Given the description of an element on the screen output the (x, y) to click on. 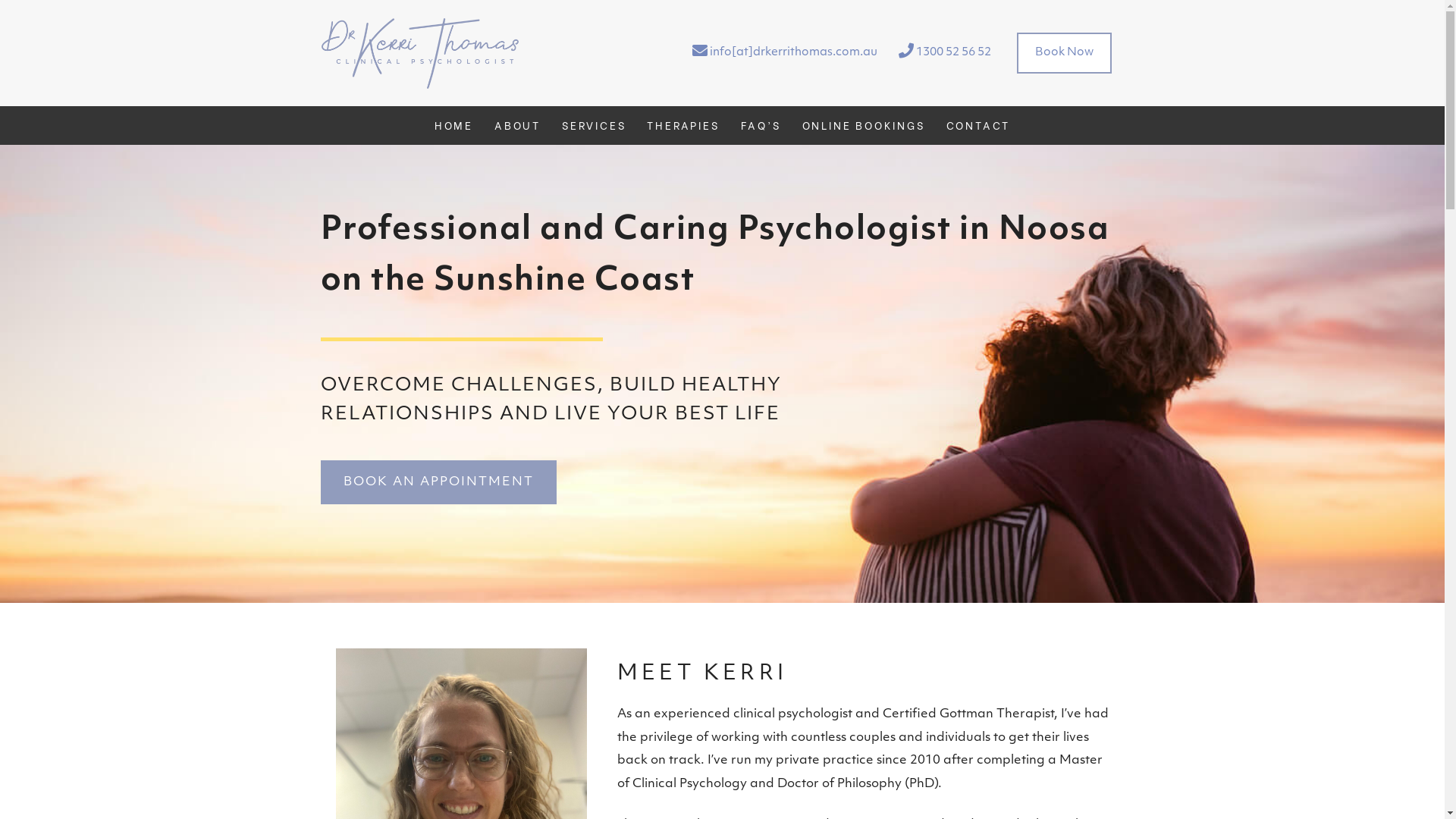
BOOK AN APPOINTMENT Element type: text (437, 482)
CONTACT Element type: text (978, 125)
HOME Element type: text (453, 125)
dr. kerri thomas Element type: text (419, 53)
info[at]drkerrithomas.com.au Element type: text (783, 53)
ABOUT Element type: text (517, 125)
Skip to main content Element type: text (30, 0)
ONLINE BOOKINGS Element type: text (863, 125)
SERVICES Element type: text (593, 125)
1300 52 56 52 Element type: text (943, 53)
Book Now Element type: text (1063, 53)
THERAPIES Element type: text (682, 125)
